Given the description of an element on the screen output the (x, y) to click on. 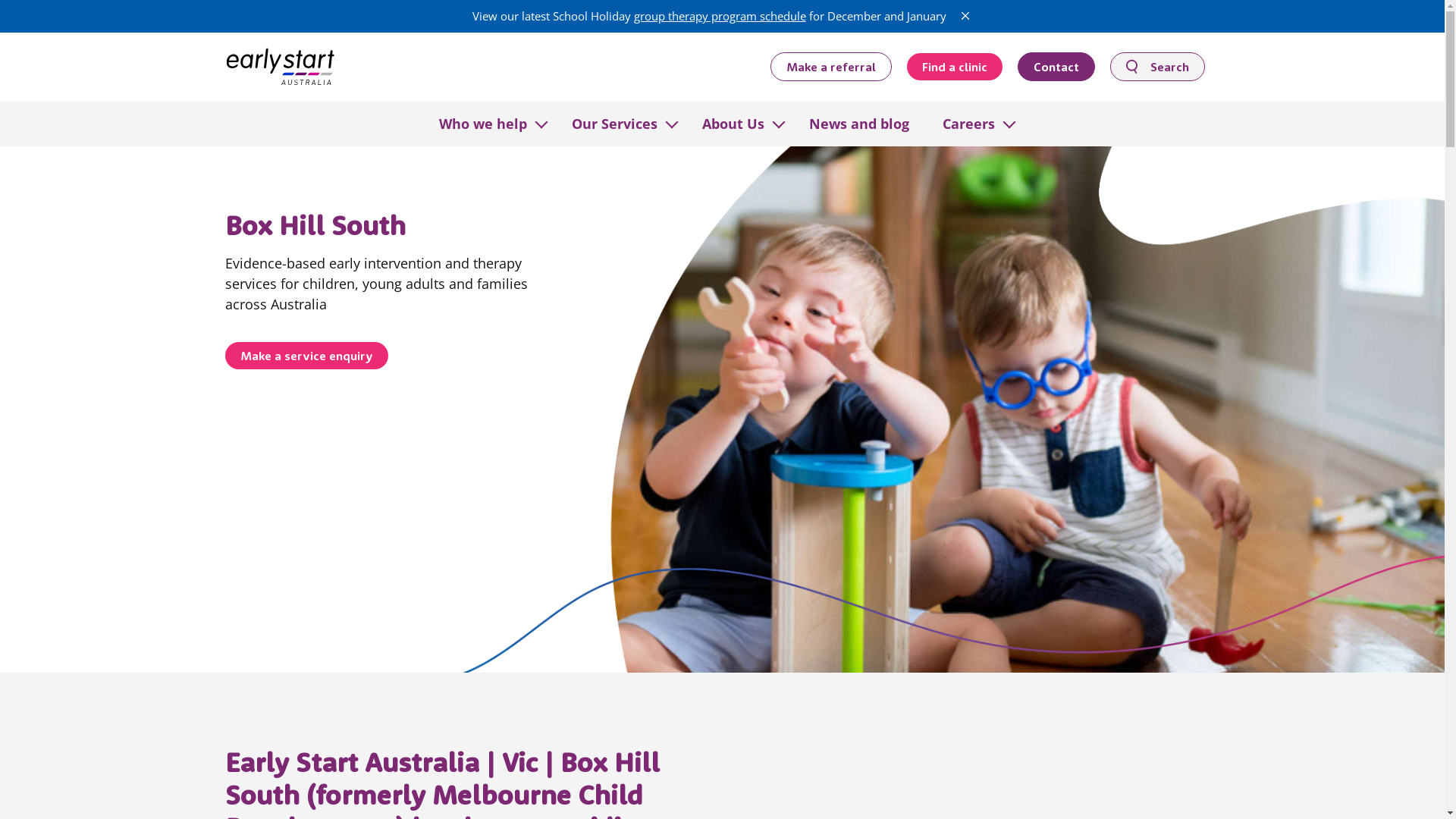
Careers Element type: text (967, 122)
Our Services Element type: text (614, 122)
About Us Element type: text (732, 122)
Find a clinic Element type: text (954, 66)
group therapy program schedule Element type: text (719, 15)
Search Element type: text (1157, 65)
Who we help Element type: text (481, 122)
Make a service enquiry Element type: text (305, 355)
News and blog Element type: text (858, 122)
X Element type: text (964, 15)
Make a referral Element type: text (830, 65)
Contact Element type: text (1056, 65)
